Given the description of an element on the screen output the (x, y) to click on. 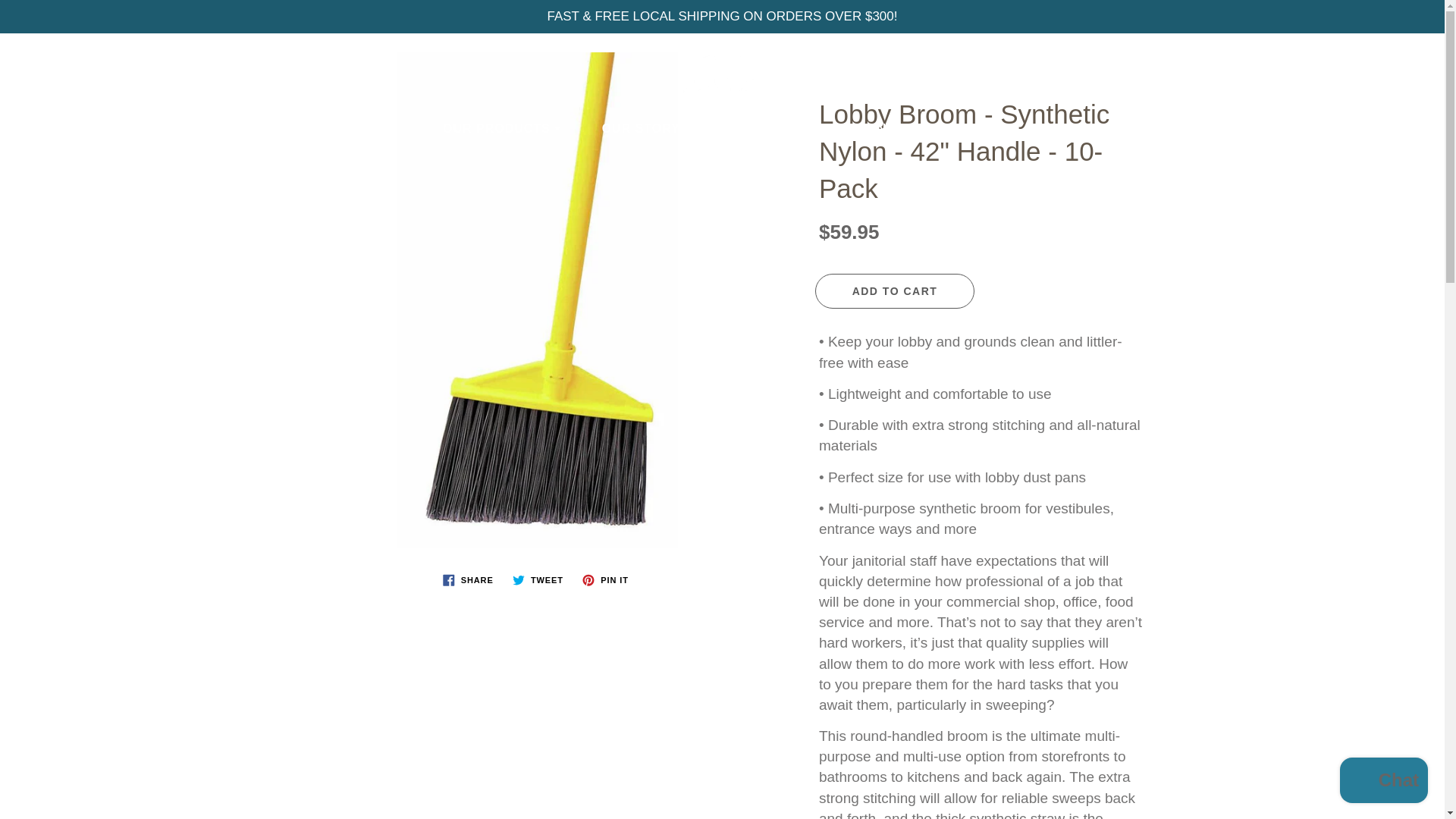
My account (1379, 59)
Share on Facebook (467, 579)
Pin on Pinterest (604, 579)
OUR PRODUCTS (501, 128)
Tweet on Twitter (537, 579)
Search (28, 59)
You have 0 items in your cart (1417, 59)
Shopify online store chat (1383, 781)
